Given the description of an element on the screen output the (x, y) to click on. 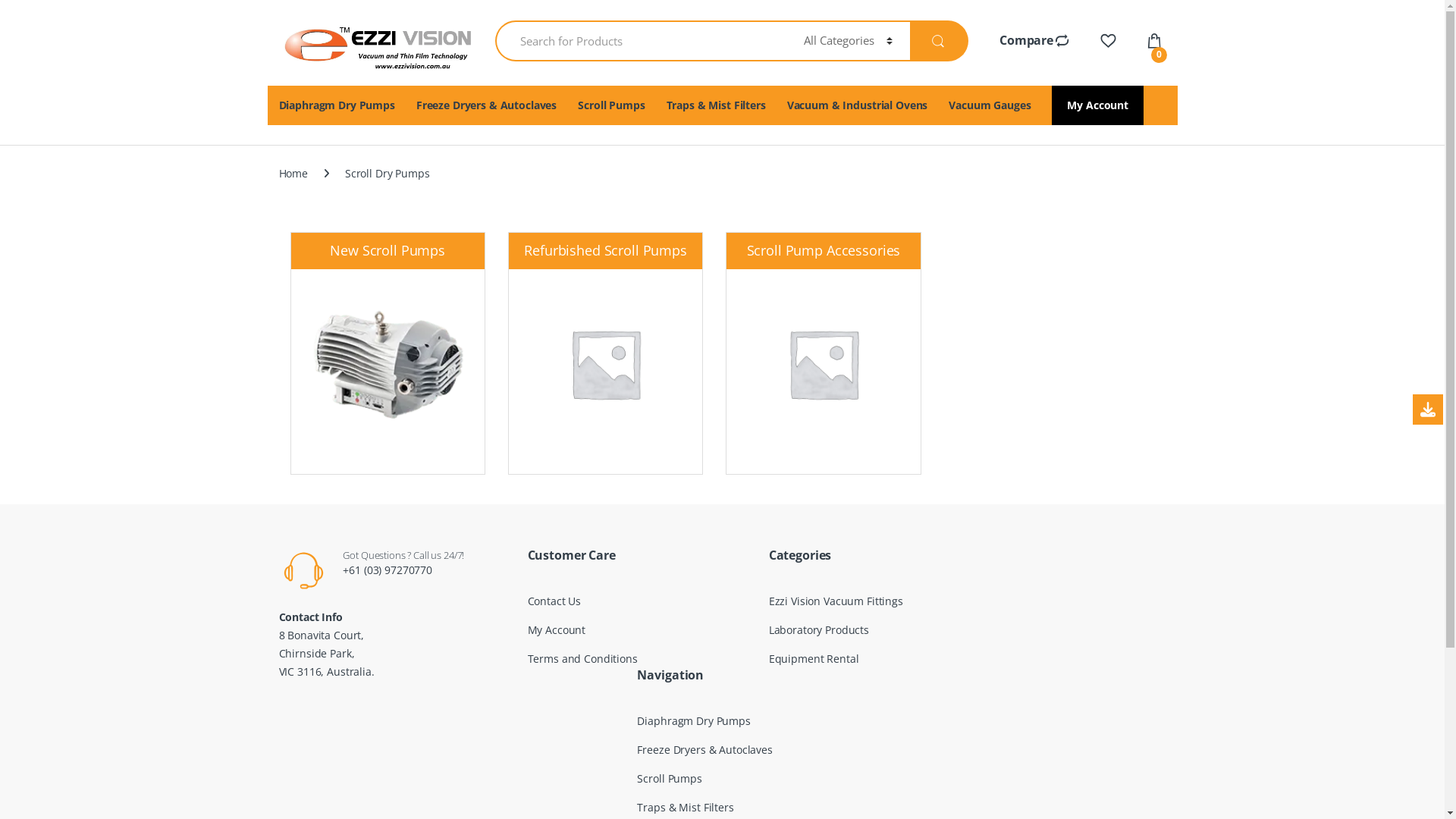
Vacuum Gauges Element type: text (989, 105)
Laboratory Products Element type: text (818, 629)
Diaphragm Dry Pumps Element type: text (337, 105)
Traps & Mist Filters Element type: text (715, 105)
Ezzi Vision Vacuum Fittings Element type: text (835, 600)
Diaphragm Dry Pumps Element type: text (693, 720)
Scroll Pumps Element type: text (610, 105)
Scroll Pump Accessories Element type: text (822, 345)
Scroll Pumps Element type: text (669, 778)
My Account Element type: text (556, 629)
New Scroll Pumps Element type: text (387, 345)
Freeze Dryers & Autoclaves Element type: text (704, 749)
Skip to navigation Element type: text (43, 9)
Vacuum & Industrial Ovens Element type: text (857, 105)
0
$0.00 Element type: text (1155, 42)
Equipment Rental Element type: text (813, 658)
My Account Element type: text (1097, 105)
Freeze Dryers & Autoclaves Element type: text (486, 105)
Refurbished Scroll Pumps Element type: text (605, 345)
Skip to content Element type: text (37, 9)
Traps & Mist Filters Element type: text (685, 807)
Contact Us Element type: text (554, 600)
Home Element type: text (293, 173)
Terms and Conditions Element type: text (582, 658)
